Given the description of an element on the screen output the (x, y) to click on. 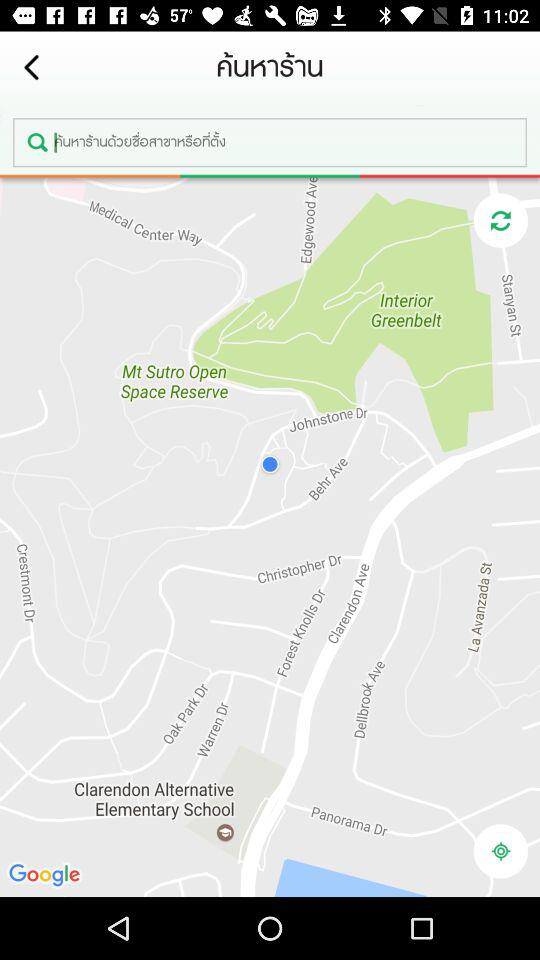
refresh button (500, 220)
